Given the description of an element on the screen output the (x, y) to click on. 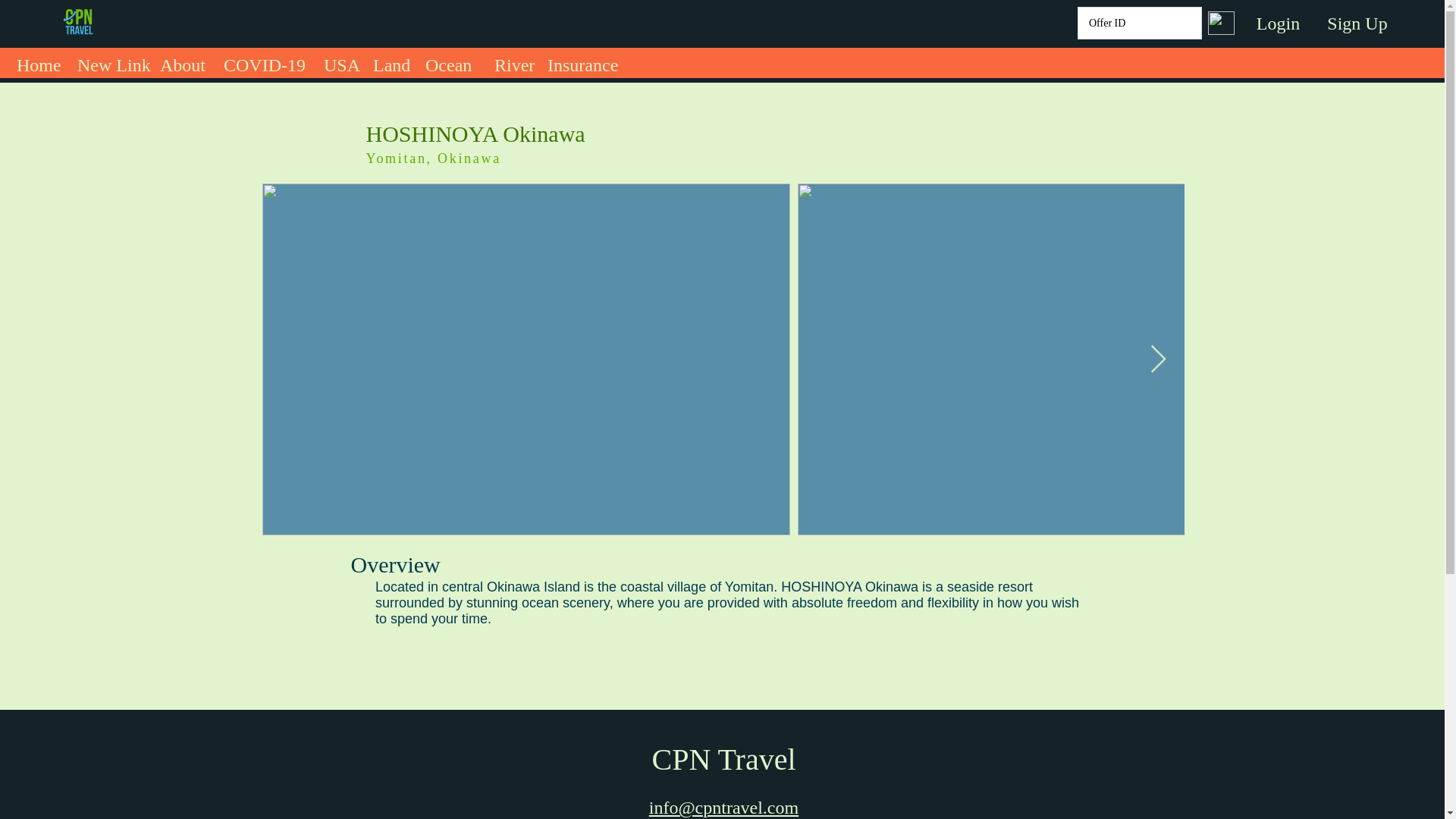
Home (38, 61)
About (183, 61)
COVID-19 (265, 61)
New Link (110, 61)
Login (1277, 24)
USA (340, 61)
Sign Up (1357, 24)
